Given the description of an element on the screen output the (x, y) to click on. 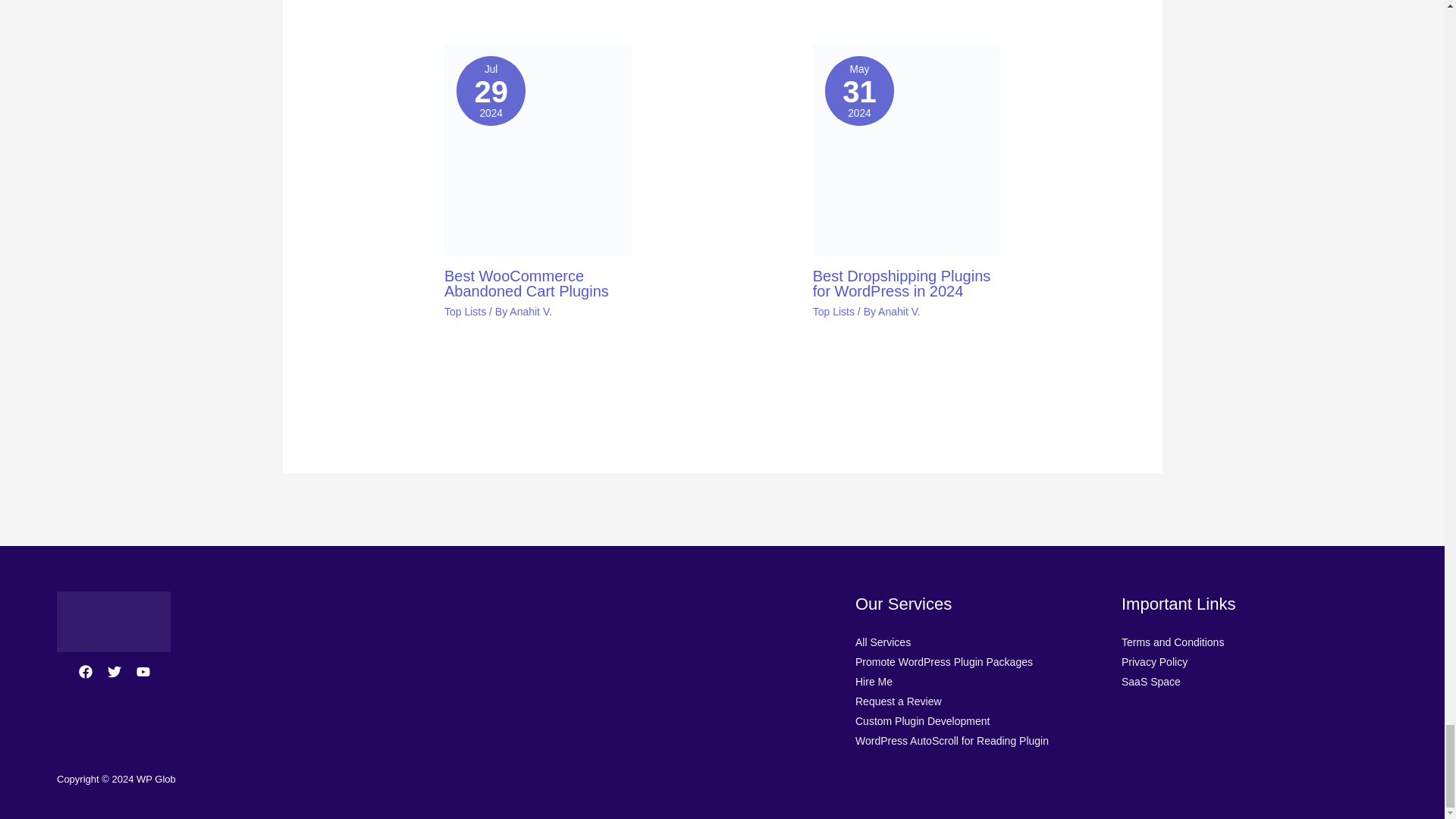
View all posts by Anahit V. (530, 311)
WP Glob (113, 621)
View all posts by Anahit V. (898, 311)
